Given the description of an element on the screen output the (x, y) to click on. 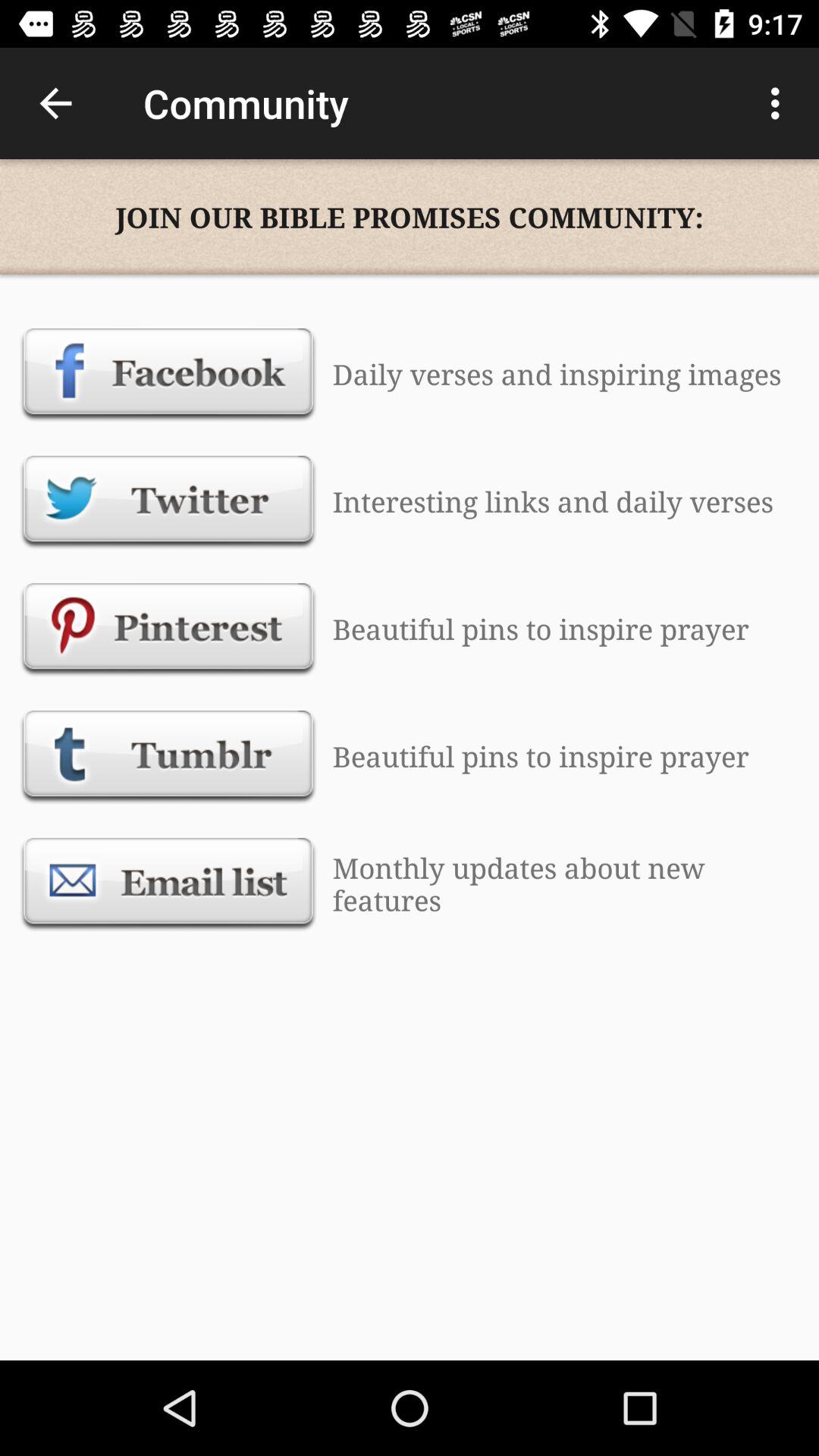
tumblr (167, 756)
